Given the description of an element on the screen output the (x, y) to click on. 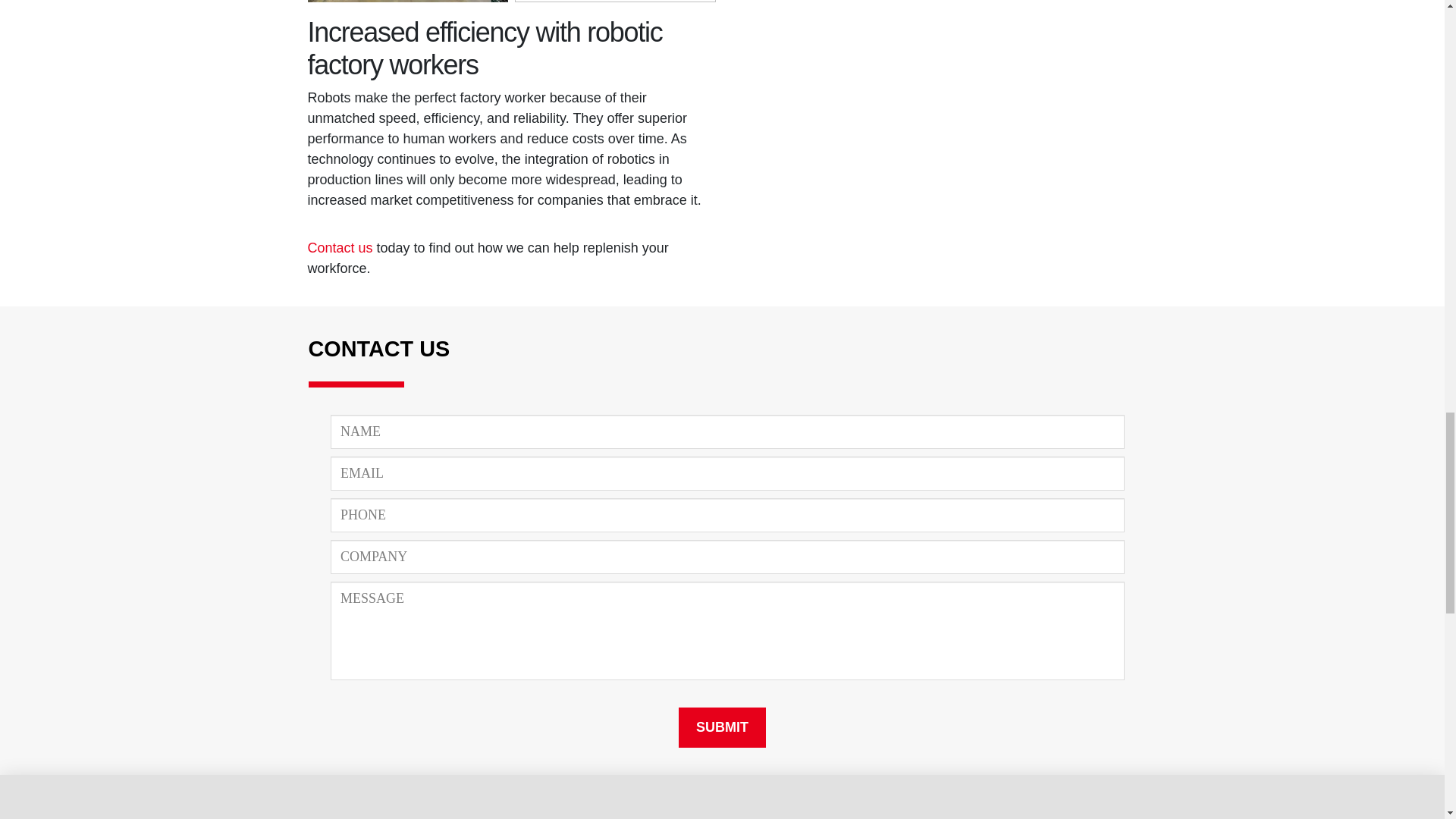
Contact us (339, 247)
Submit (721, 727)
Submit (721, 727)
